Given the description of an element on the screen output the (x, y) to click on. 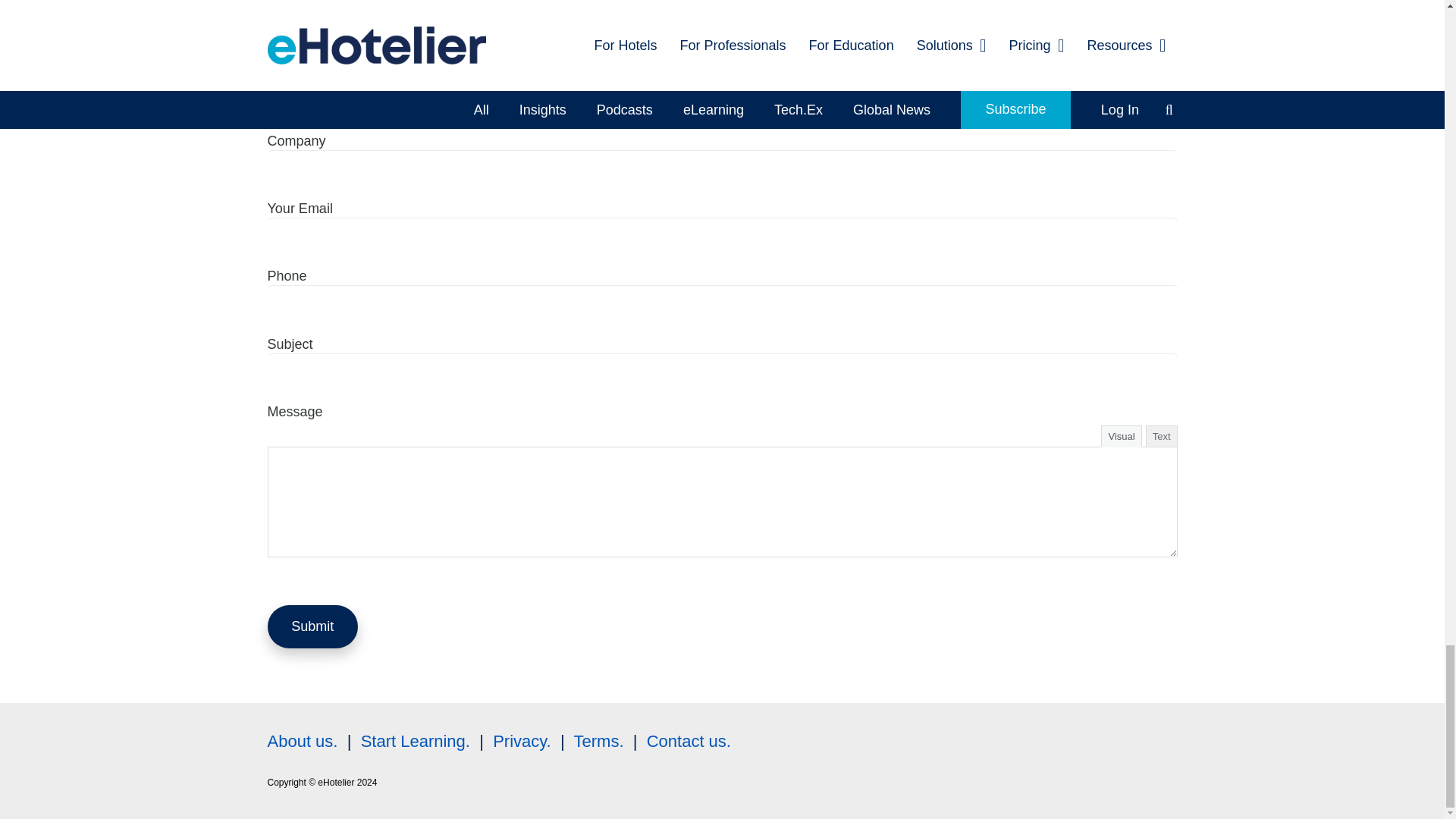
Submit (312, 626)
